Given the description of an element on the screen output the (x, y) to click on. 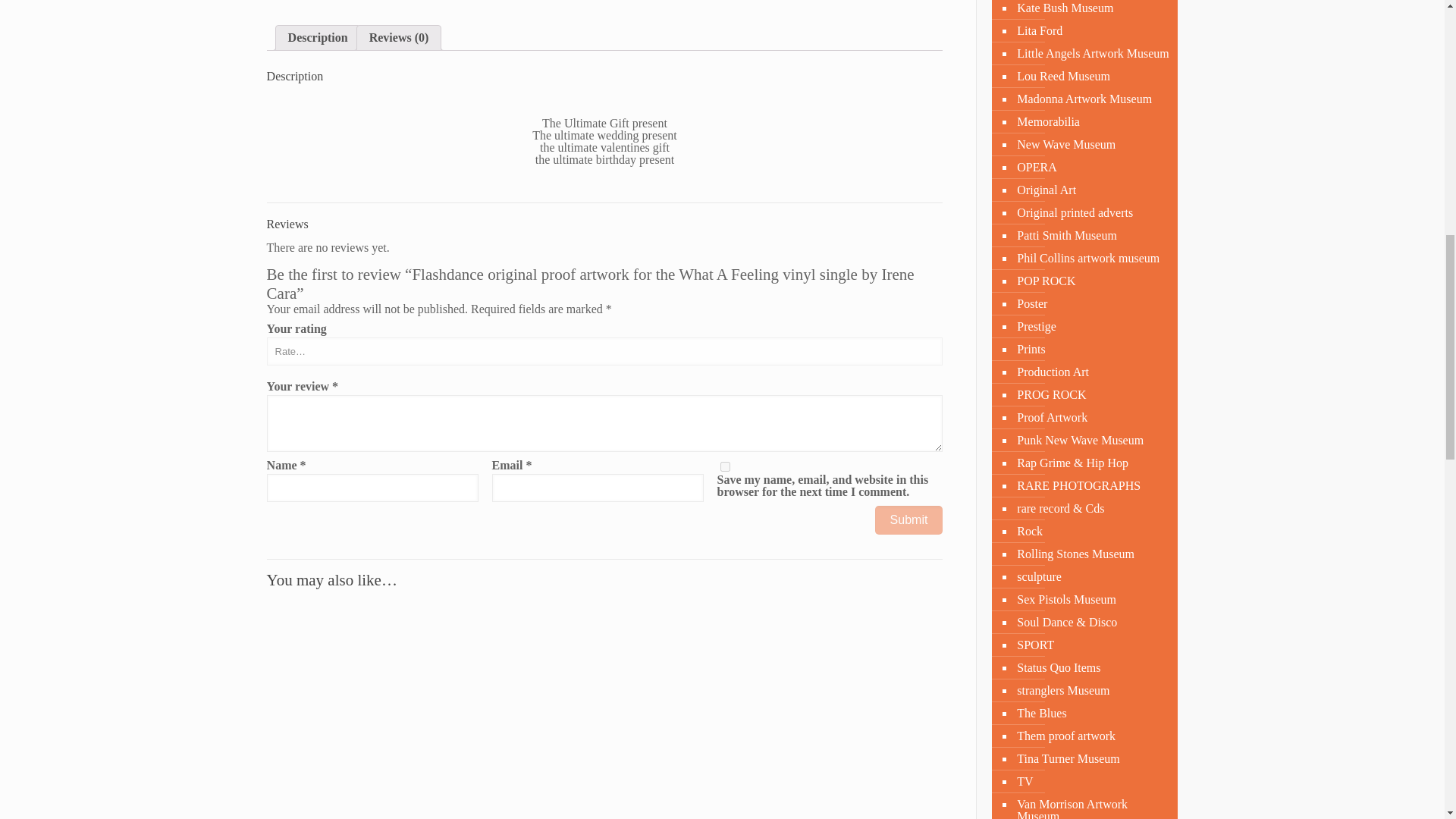
yes (725, 466)
Description (317, 37)
Submit (909, 520)
Submit (909, 520)
